Given the description of an element on the screen output the (x, y) to click on. 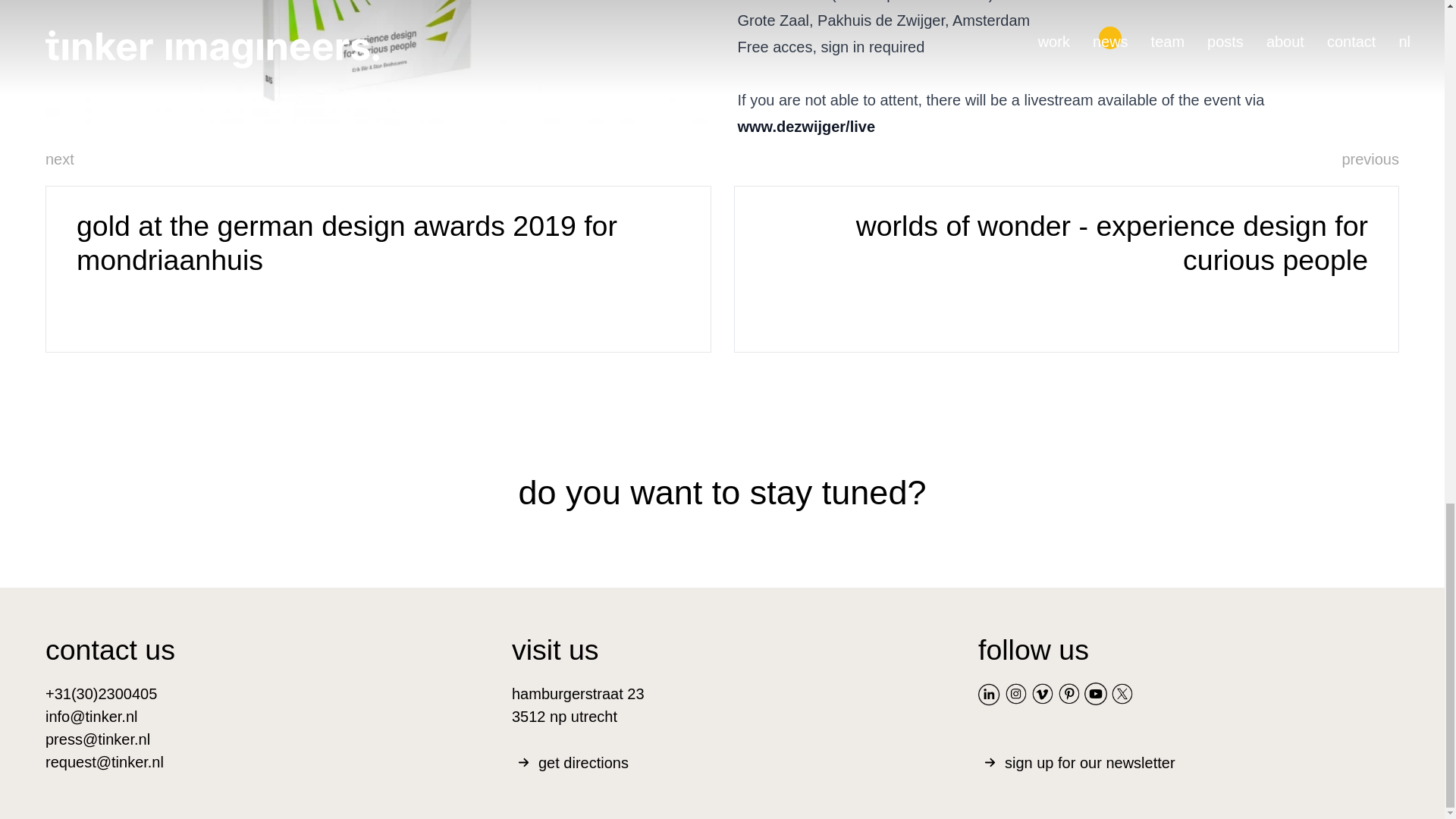
worlds of wonder - experience design for curious people (1066, 268)
gold at the german design awards 2019 for mondriaanhuis (378, 268)
get directions (722, 762)
sign up for our newsletter (1188, 762)
